Given the description of an element on the screen output the (x, y) to click on. 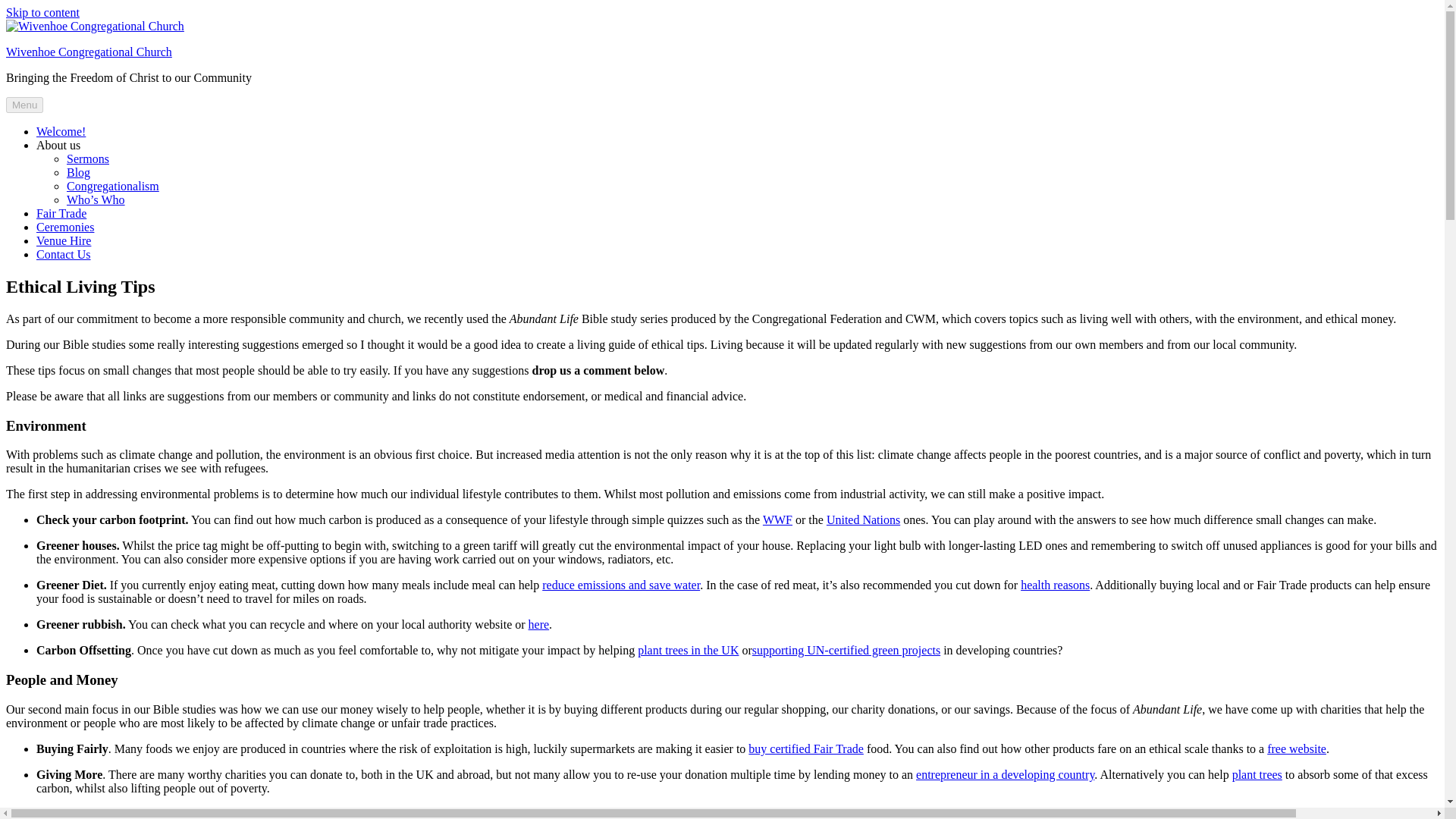
plant trees (1256, 774)
supporting UN-certified green projects (846, 649)
Blog (78, 172)
WWF (777, 519)
buy certified Fair Trade (805, 748)
here (539, 624)
plant trees in the UK (687, 649)
Fair Trade (60, 213)
health reasons (1054, 584)
Wivenhoe Congregational Church (88, 51)
